Given the description of an element on the screen output the (x, y) to click on. 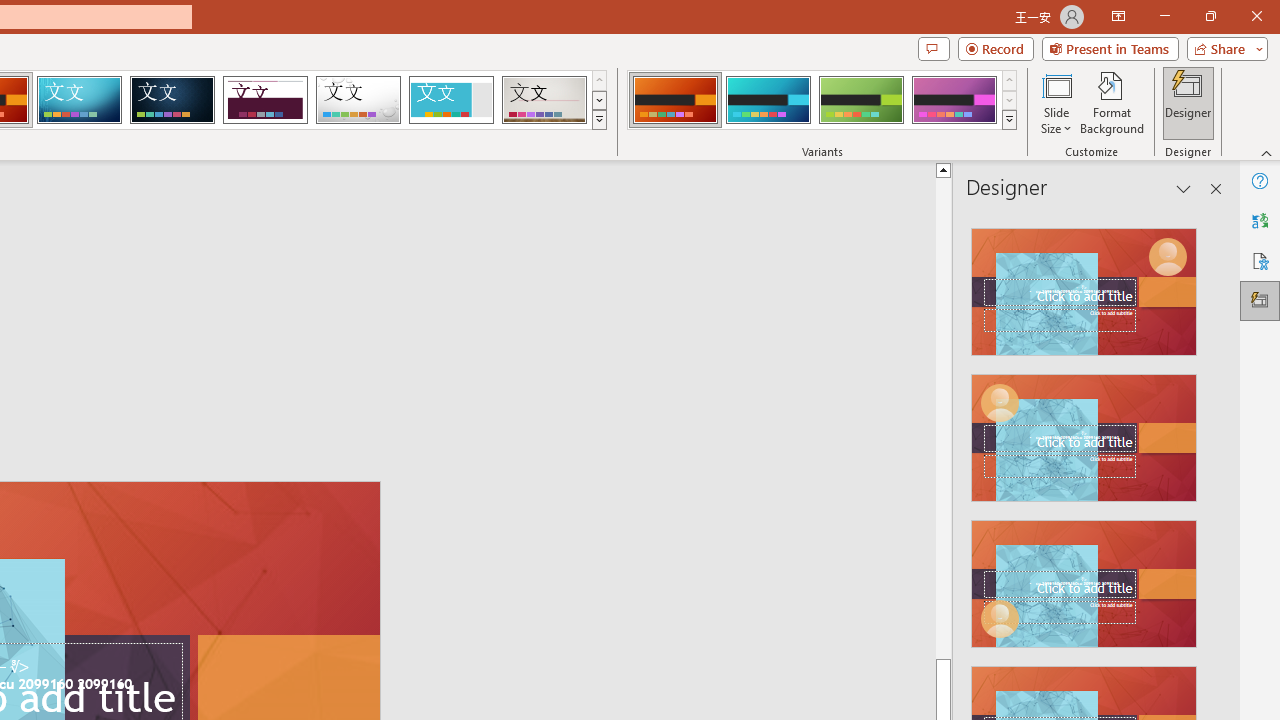
Dividend (265, 100)
Format Background (1111, 102)
Berlin Variant 1 (674, 100)
Themes (598, 120)
